Given the description of an element on the screen output the (x, y) to click on. 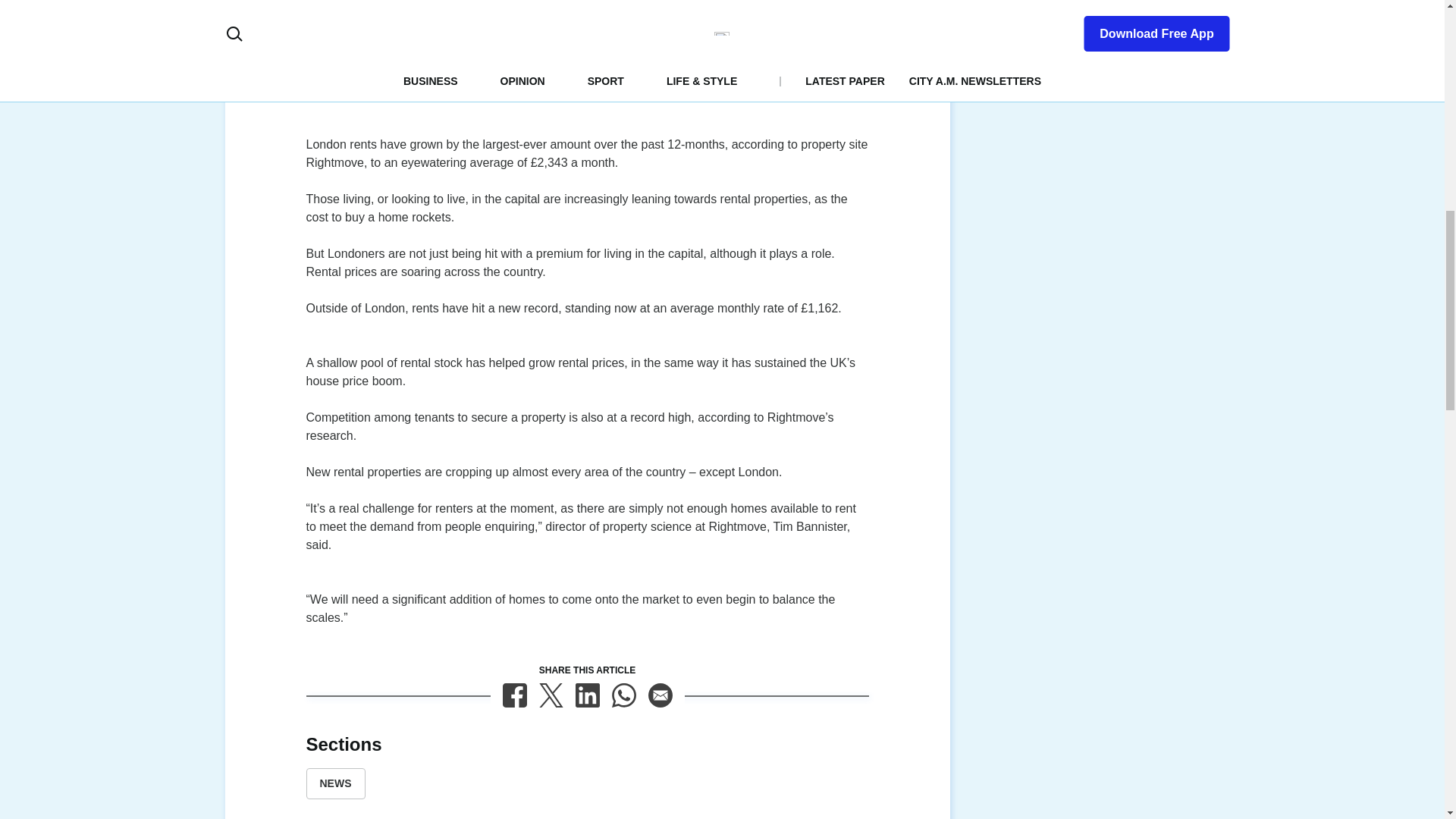
WhatsApp (622, 695)
Email (659, 695)
LinkedIn (586, 695)
Facebook (513, 695)
X (550, 695)
